Given the description of an element on the screen output the (x, y) to click on. 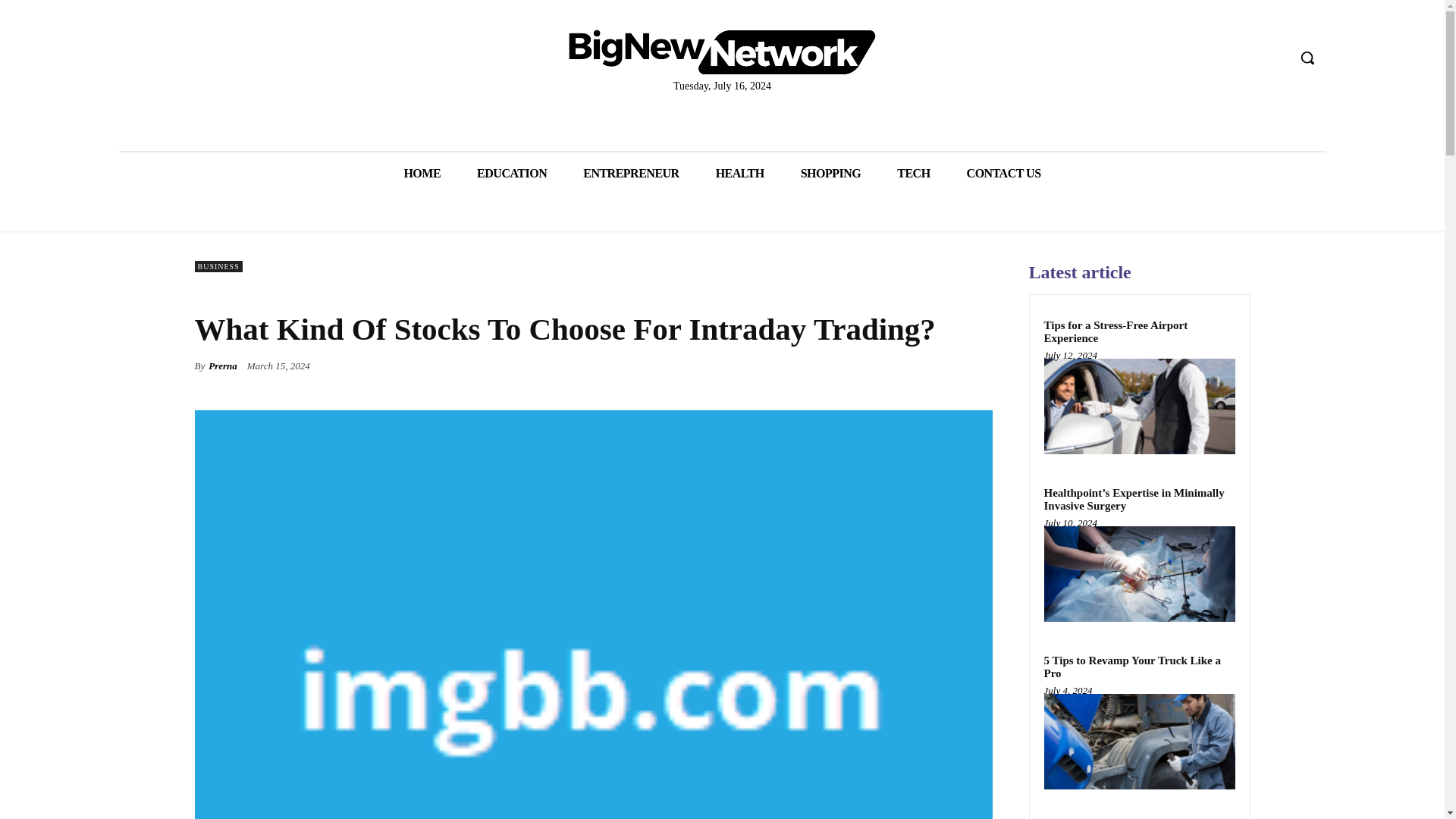
TECH (913, 173)
Prerna (222, 365)
ENTREPRENEUR (630, 173)
EDUCATION (511, 173)
SHOPPING (831, 173)
HEALTH (740, 173)
HOME (421, 173)
CONTACT US (1004, 173)
BUSINESS (217, 266)
